Given the description of an element on the screen output the (x, y) to click on. 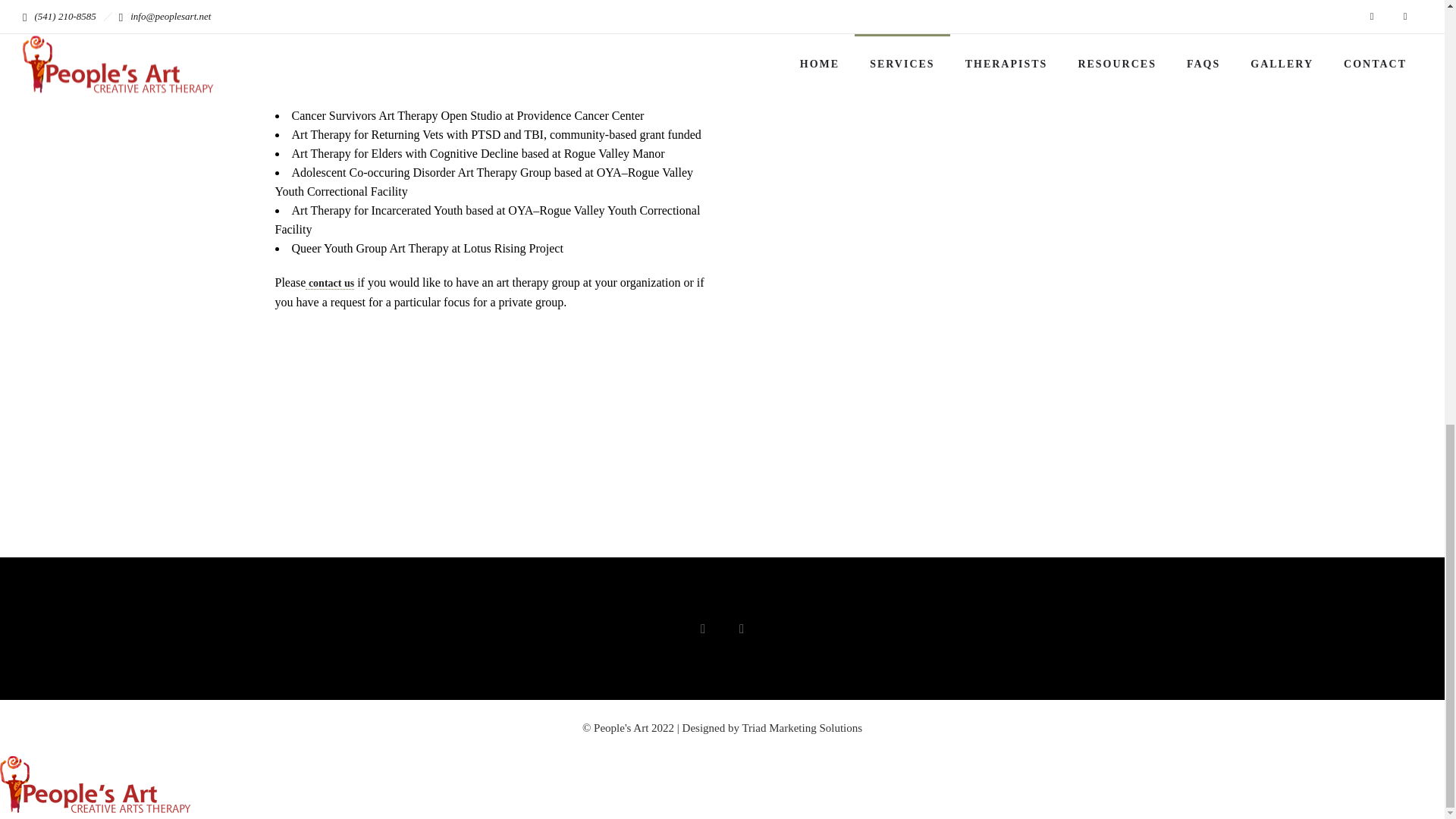
Kolpia Counseling (468, 12)
Instagram (741, 629)
contact us (329, 283)
Mobile logo (99, 808)
Facebook (703, 629)
